Given the description of an element on the screen output the (x, y) to click on. 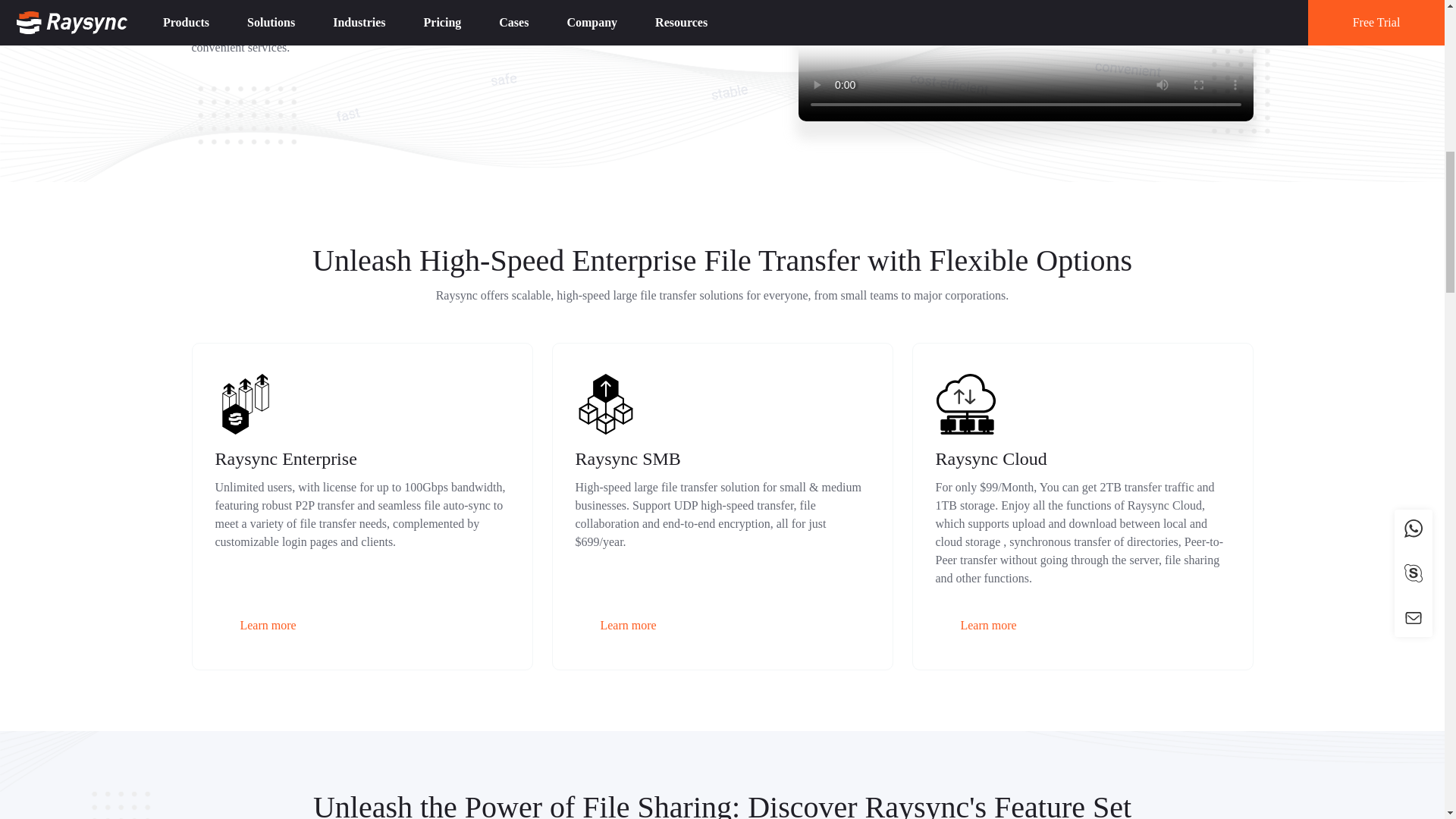
Learn more (628, 625)
Learn more (268, 625)
Learn more (989, 625)
